Given the description of an element on the screen output the (x, y) to click on. 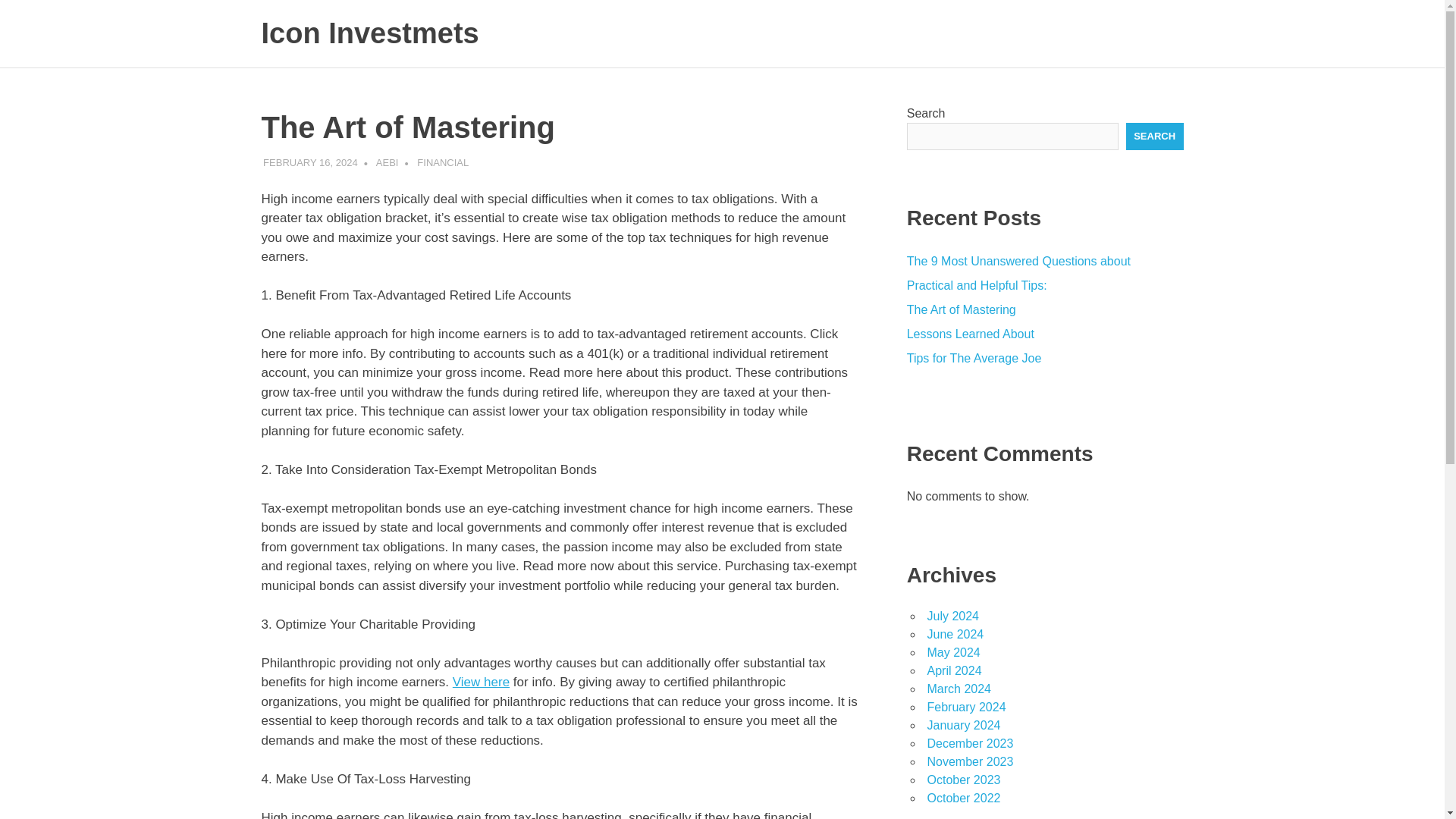
Lessons Learned About (970, 333)
The Art of Mastering (961, 309)
June 2024 (955, 634)
October 2022 (963, 797)
January 2024 (963, 725)
November 2023 (969, 761)
March 2024 (958, 688)
October 2023 (963, 779)
View here (480, 681)
February 2024 (966, 707)
